Given the description of an element on the screen output the (x, y) to click on. 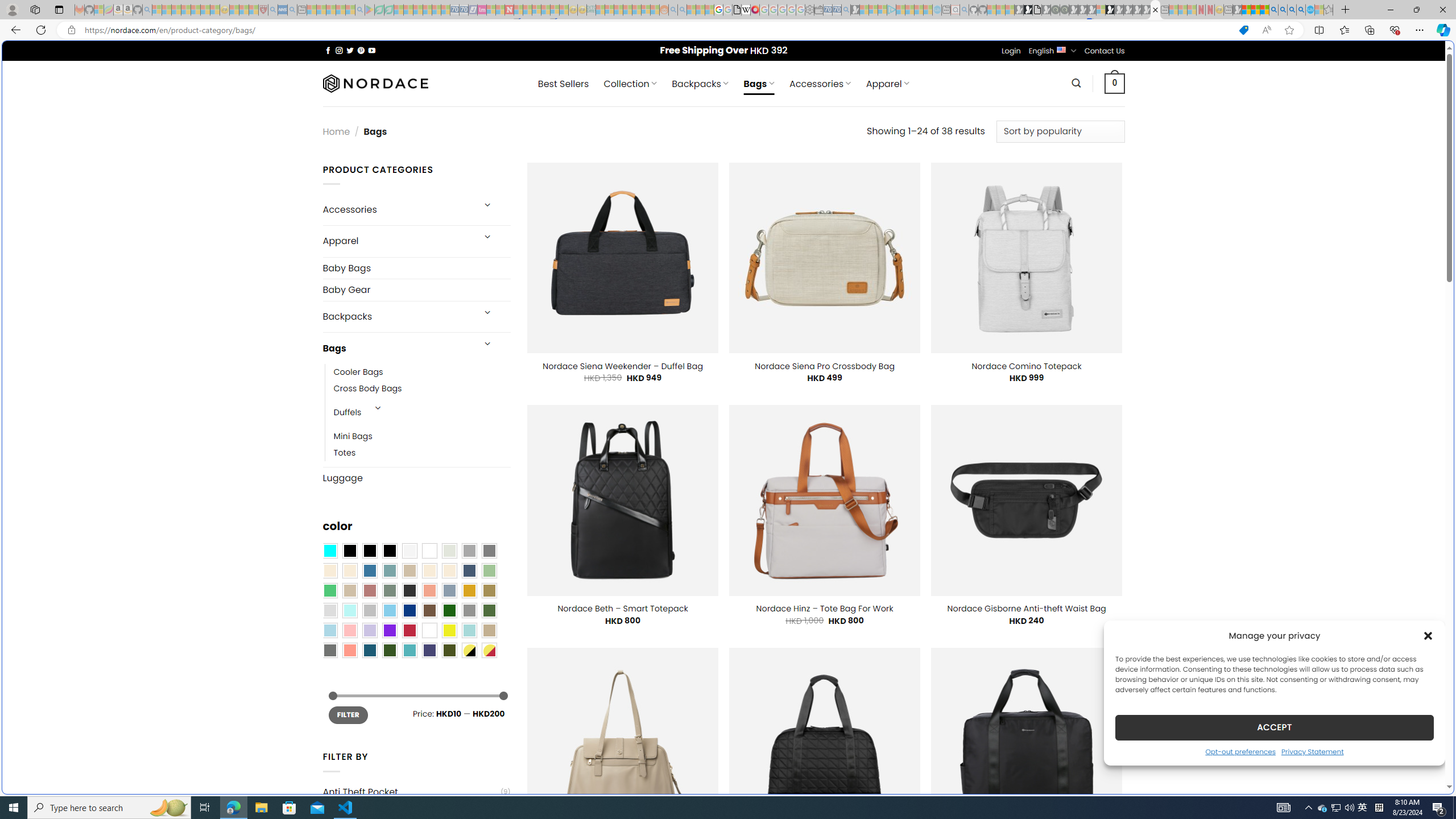
Kelp (488, 590)
Nordace Comino Totepack (1026, 365)
All Gray (488, 550)
Mint (349, 610)
Charcoal (408, 590)
Yellow-Black (468, 649)
Blue (369, 570)
